Given the description of an element on the screen output the (x, y) to click on. 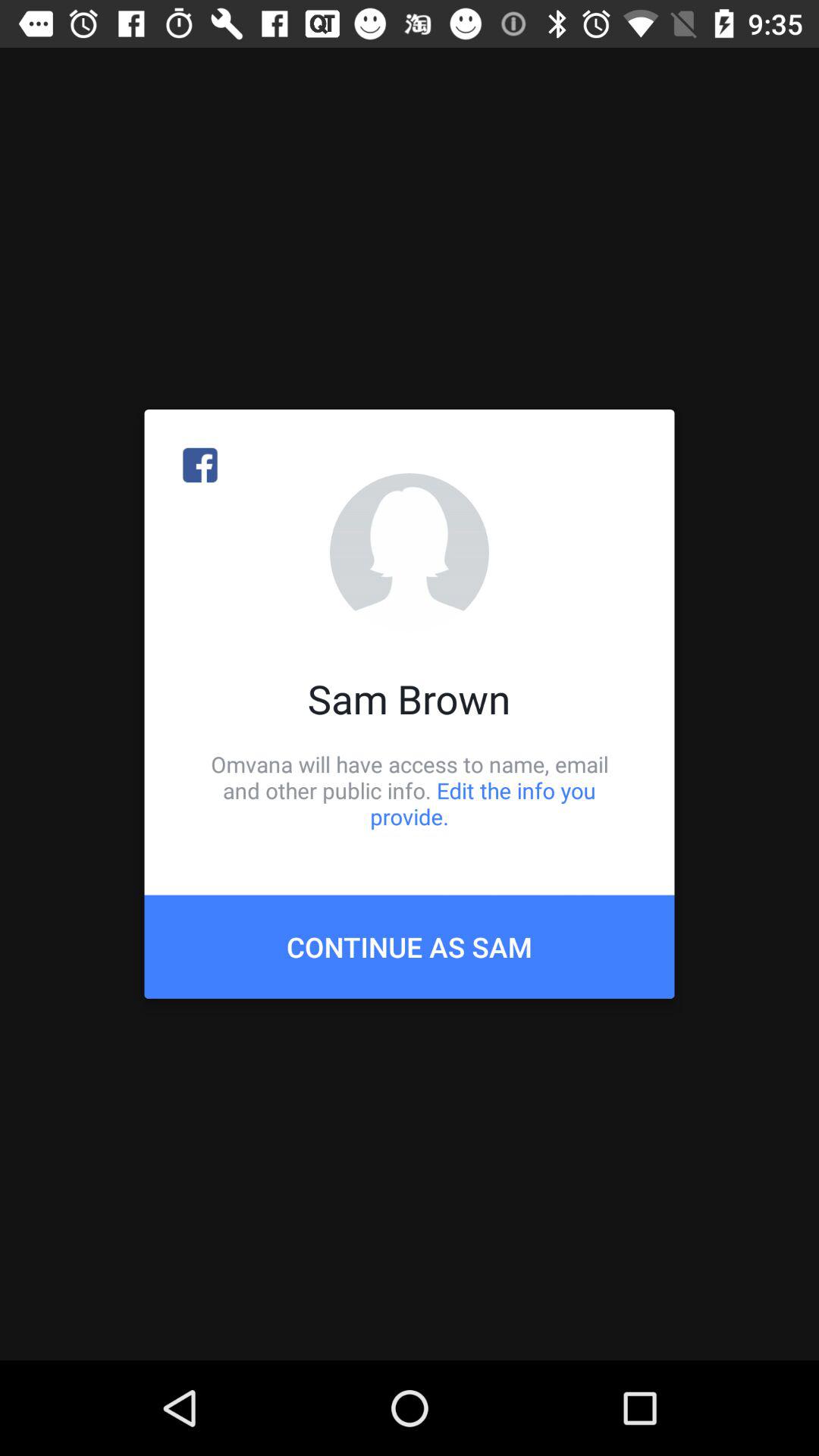
jump to continue as sam (409, 946)
